Given the description of an element on the screen output the (x, y) to click on. 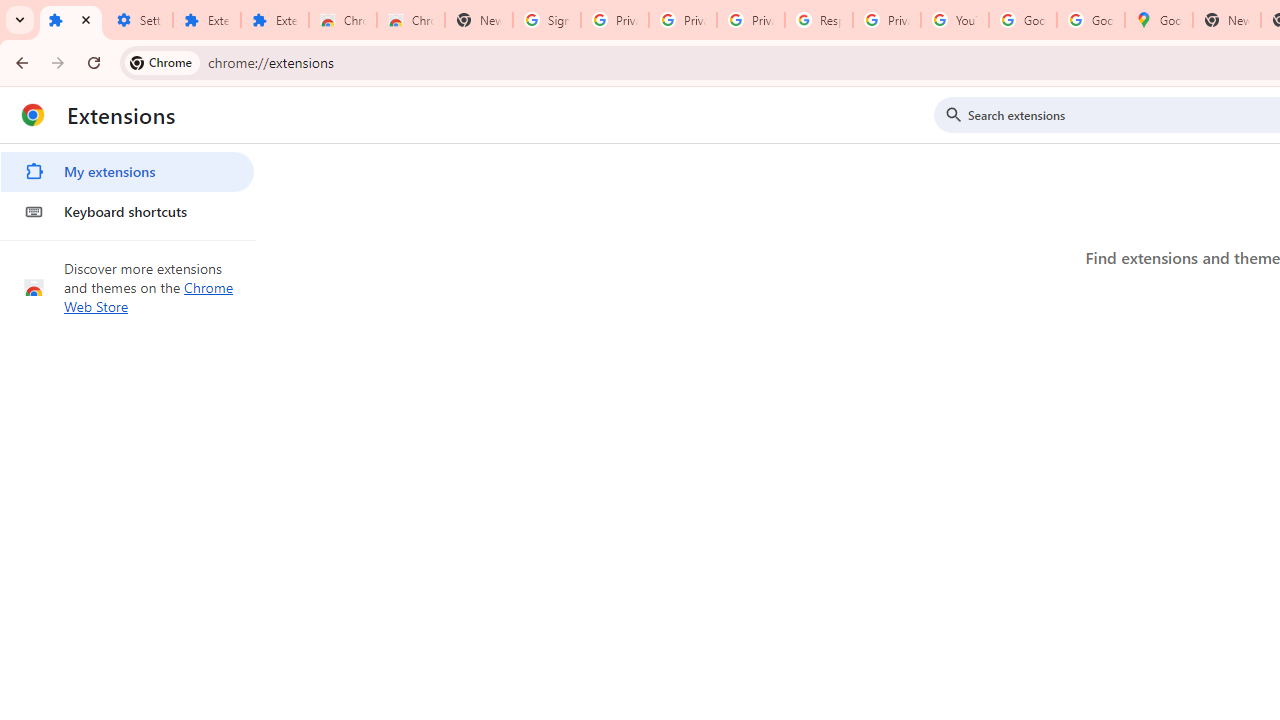
AutomationID: sectionMenu (128, 187)
New Tab (479, 20)
Keyboard shortcuts (127, 211)
Chrome Web Store (149, 296)
